Given the description of an element on the screen output the (x, y) to click on. 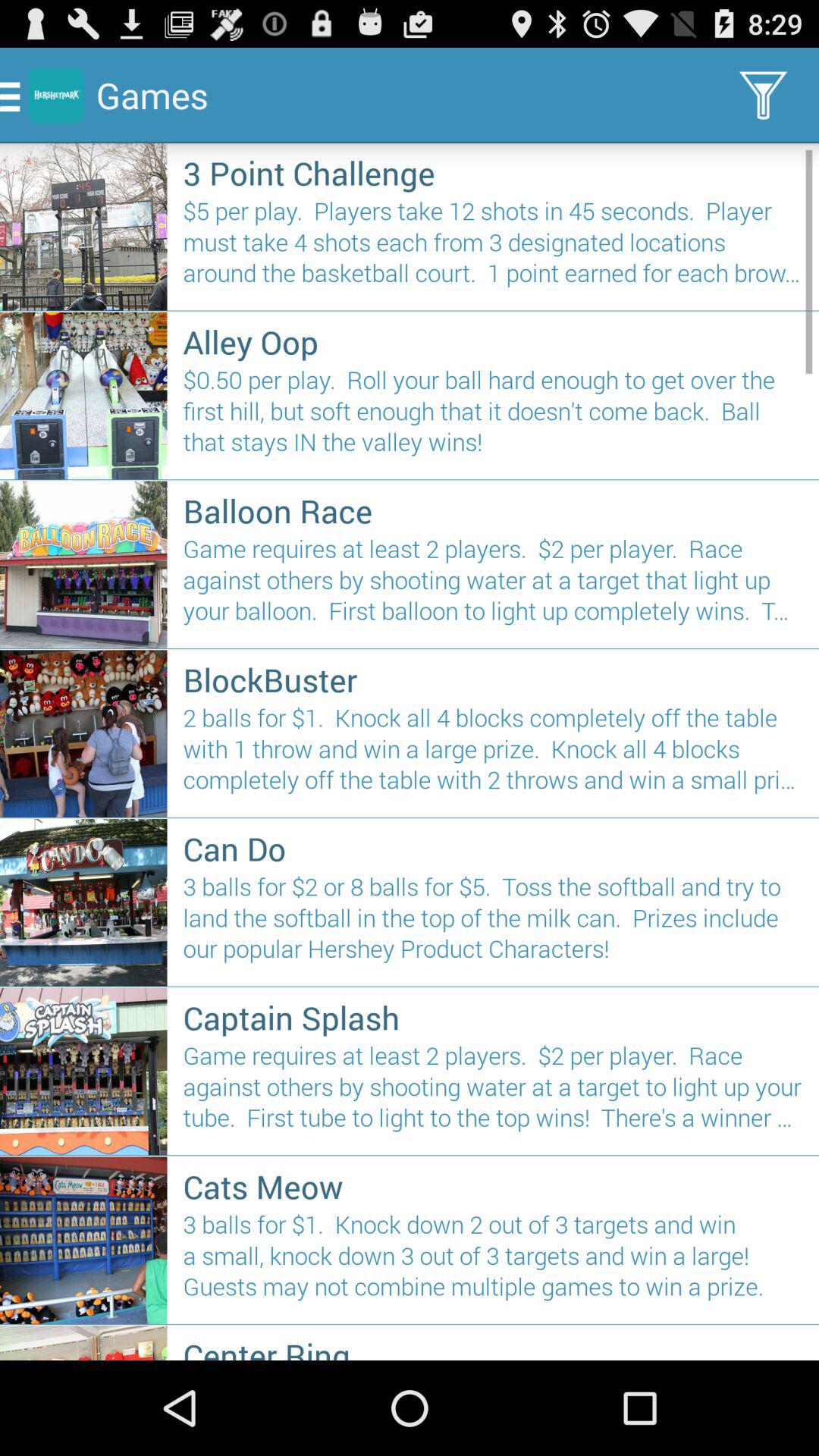
swipe until the can do icon (493, 848)
